Given the description of an element on the screen output the (x, y) to click on. 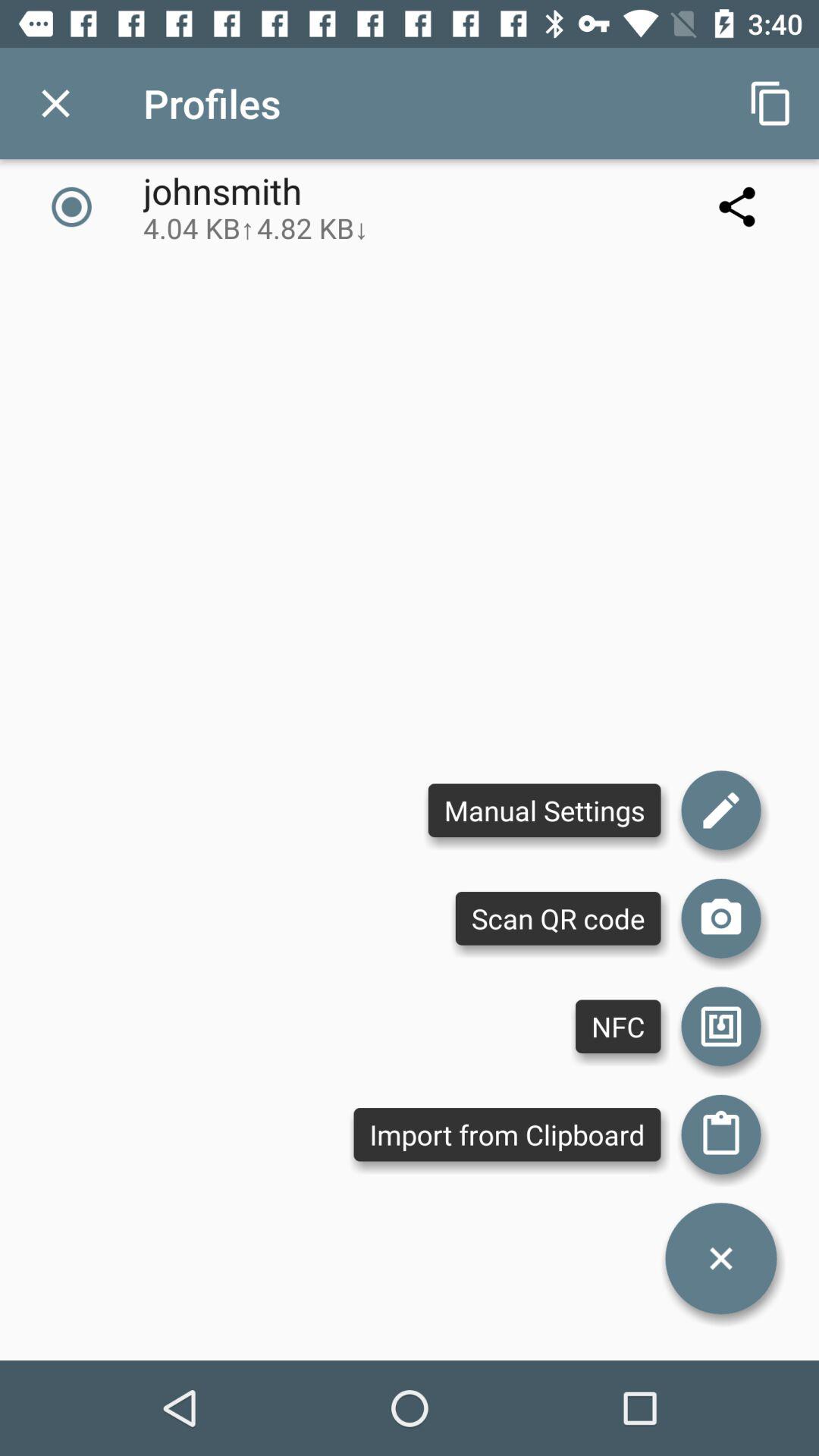
press item next to manual settings (721, 918)
